Given the description of an element on the screen output the (x, y) to click on. 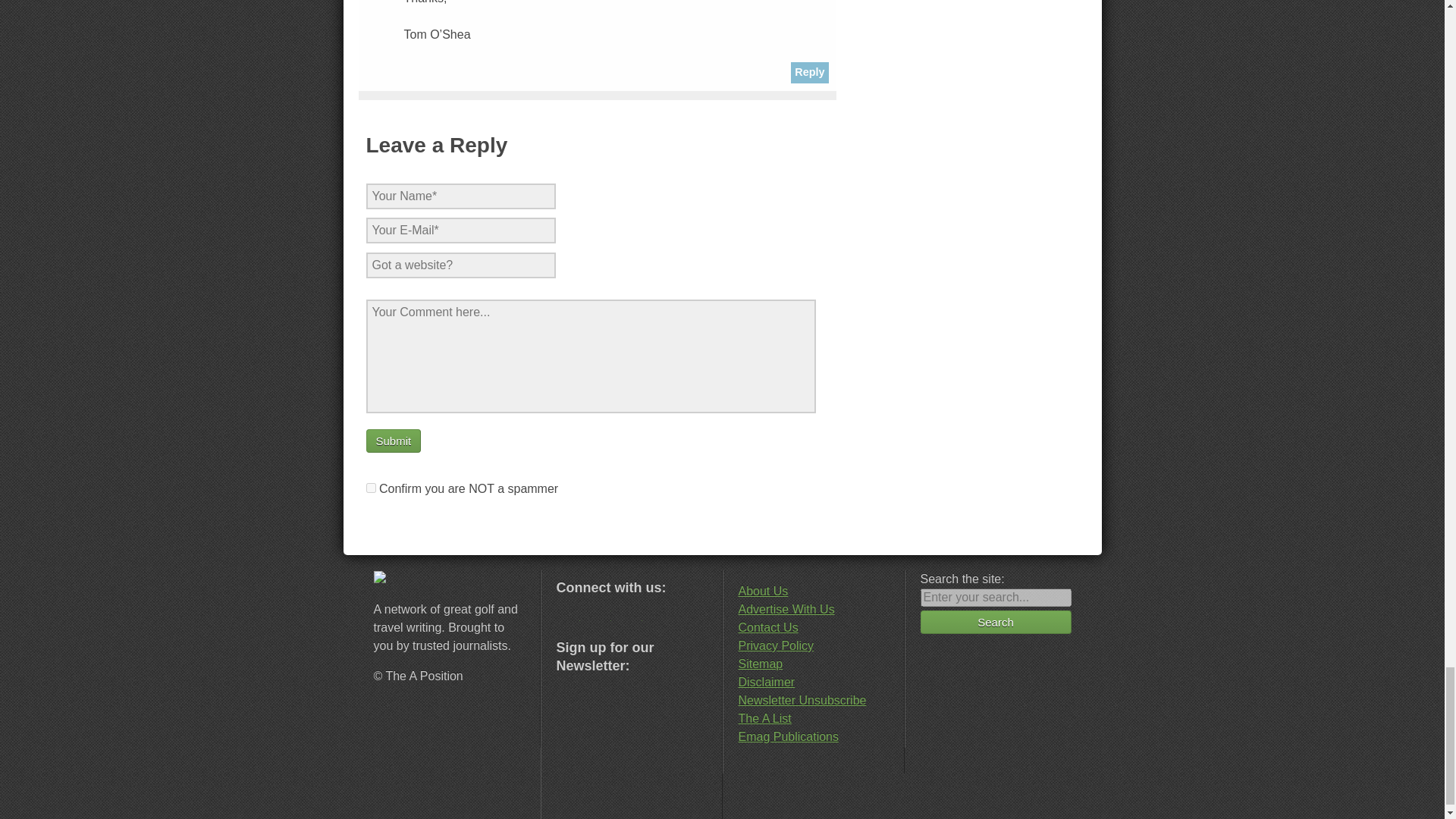
Submit (392, 440)
on (370, 488)
Search (995, 621)
